Given the description of an element on the screen output the (x, y) to click on. 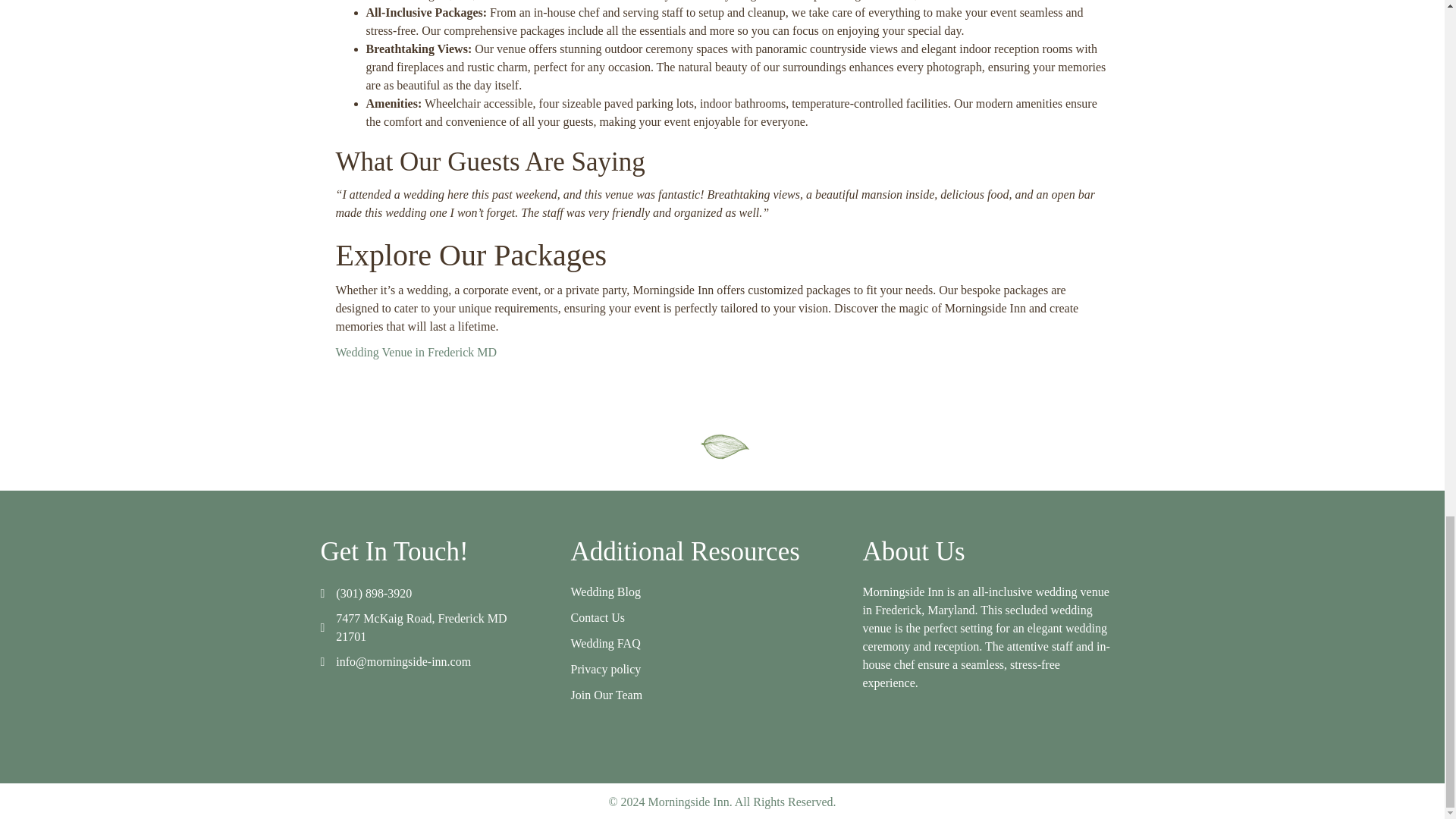
Wedding Venue in Frederick MD (415, 351)
Wedding Blog (605, 591)
Leaf - Morningsideinn wedding venue near me (722, 444)
Contact Us (597, 617)
7477 McKaig Road, Frederick MD 21701 (421, 626)
Privacy policy (605, 668)
Join Our Team (606, 694)
Wedding FAQ (605, 643)
